Given the description of an element on the screen output the (x, y) to click on. 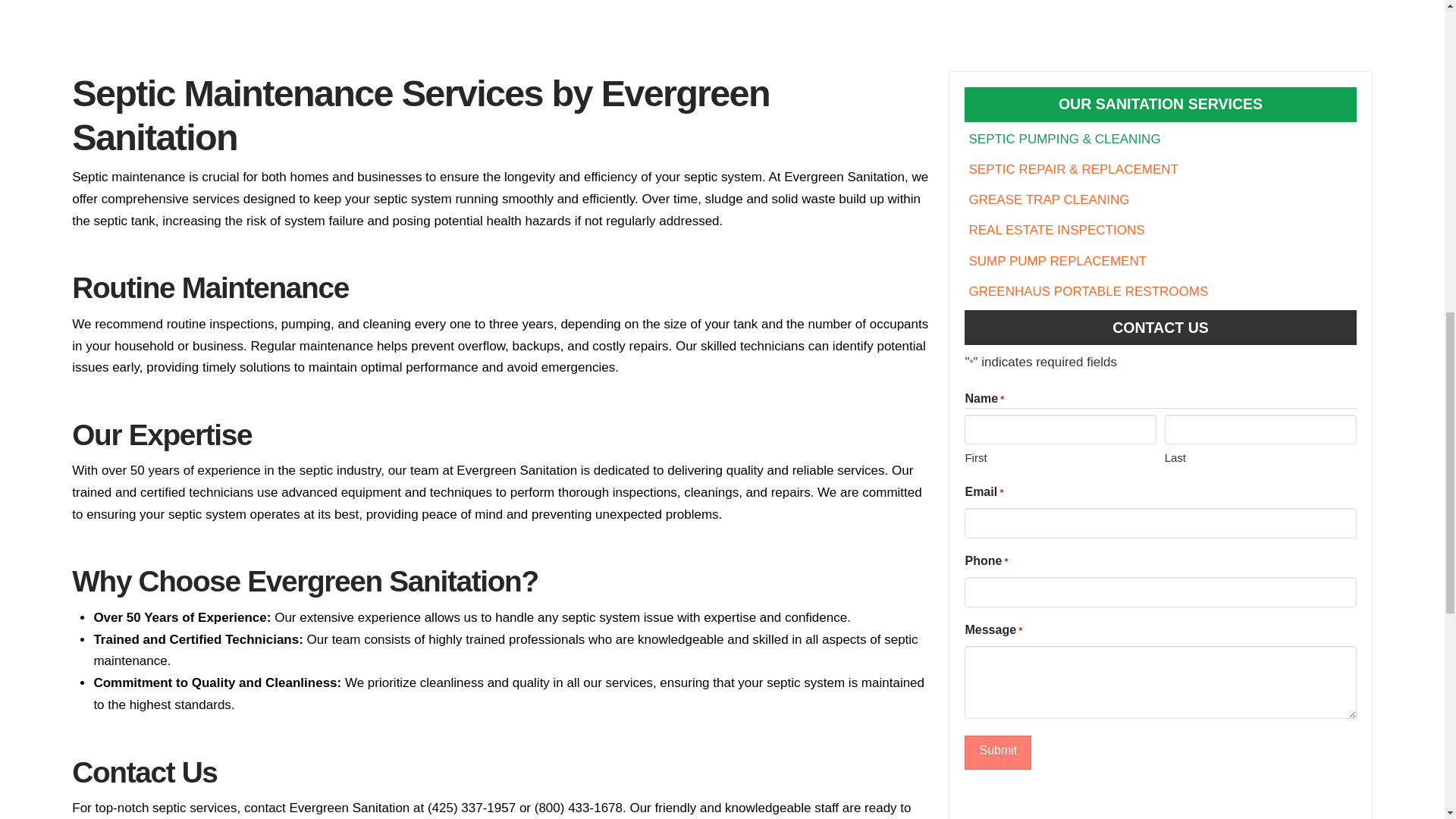
Submit (996, 752)
REAL ESTATE INSPECTIONS (1060, 228)
GREASE TRAP CLEANING (1052, 198)
SUMP PUMP REPLACEMENT (1060, 259)
Submit (996, 752)
GREENHAUS PORTABLE RESTROOMS (1092, 289)
